Given the description of an element on the screen output the (x, y) to click on. 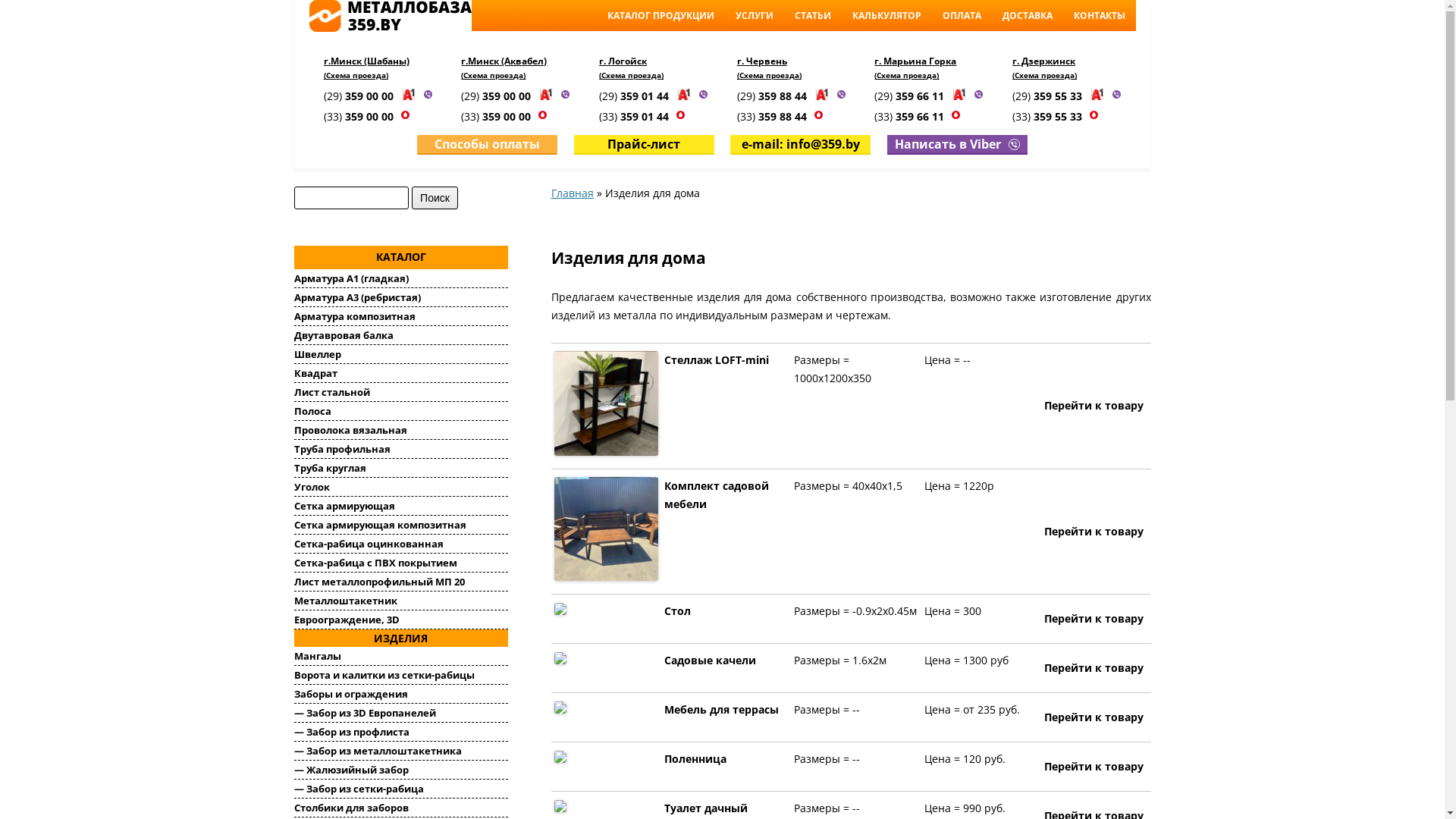
(33) 359 00 00 Element type: text (497, 116)
(29) 359 00 00 Element type: text (359, 95)
(29) 359 00 00 Element type: text (497, 95)
(29) 359 55 33 Element type: text (1048, 95)
(33) 359 88 44 Element type: text (773, 116)
(33) 359 00 00 Element type: text (359, 116)
(29) 359 01 44 Element type: text (635, 95)
(33) 359 55 33 Element type: text (1048, 116)
(29) 359 66 11 Element type: text (910, 95)
(33) 359 66 11 Element type: text (910, 116)
(33) 359 01 44 Element type: text (635, 116)
e-mail: info@359.by Element type: text (800, 144)
(29) 359 88 44 Element type: text (773, 95)
